Given the description of an element on the screen output the (x, y) to click on. 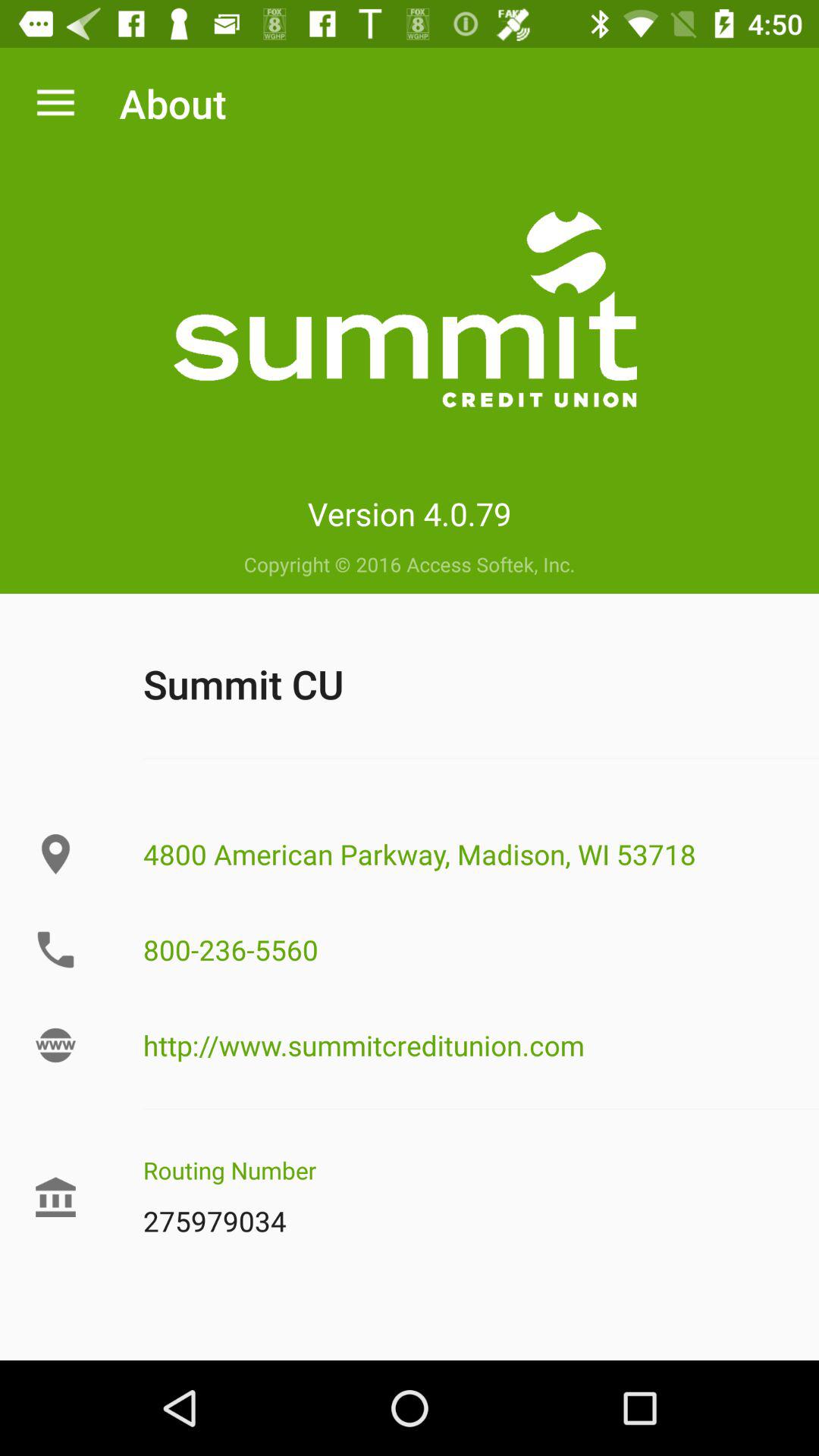
scroll to 4800 american parkway icon (465, 854)
